Given the description of an element on the screen output the (x, y) to click on. 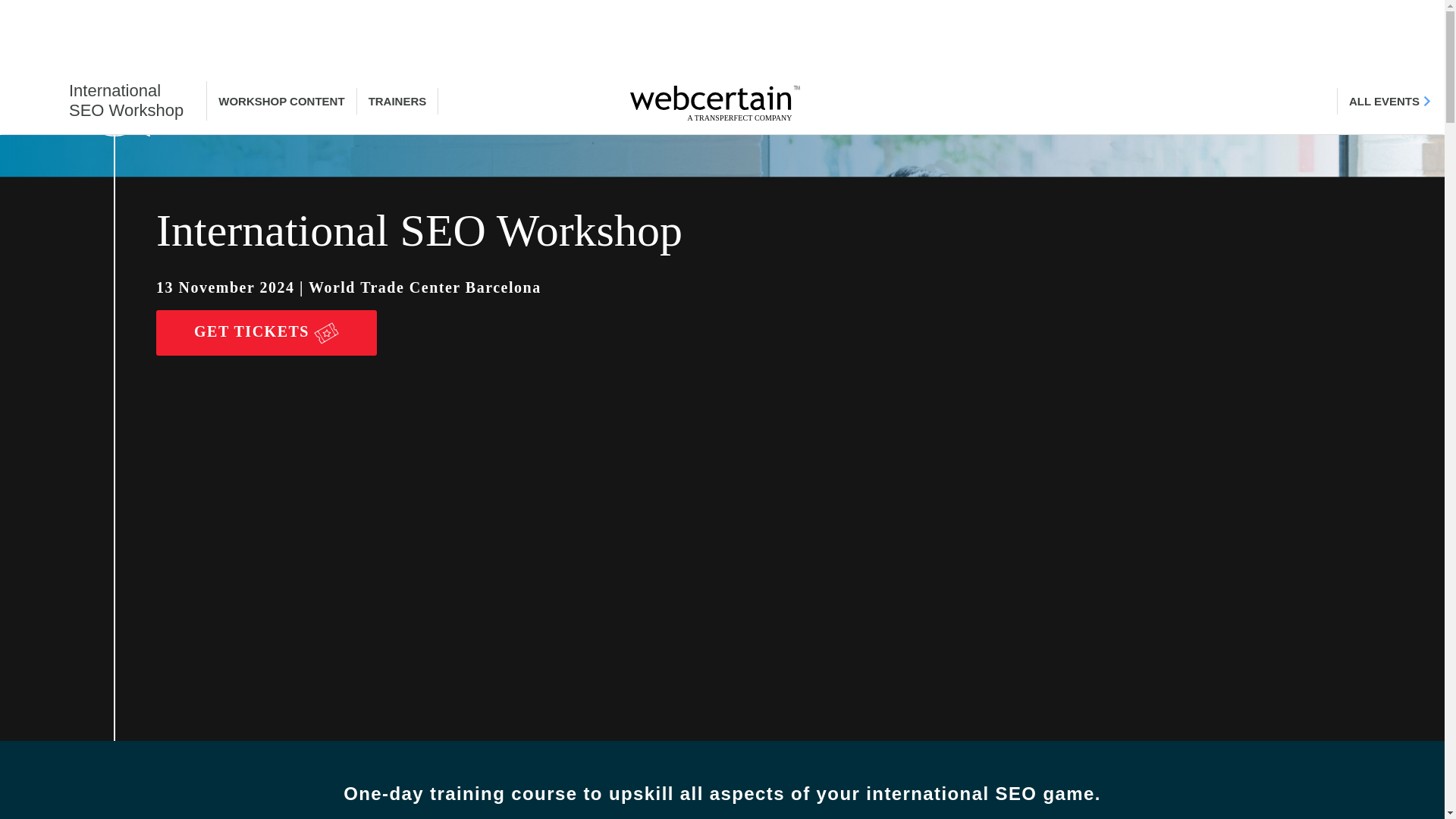
GET TICKETS (103, 101)
ALL EVENTS (266, 332)
WORKSHOP CONTENT (1390, 100)
TRAINERS (280, 100)
